Given the description of an element on the screen output the (x, y) to click on. 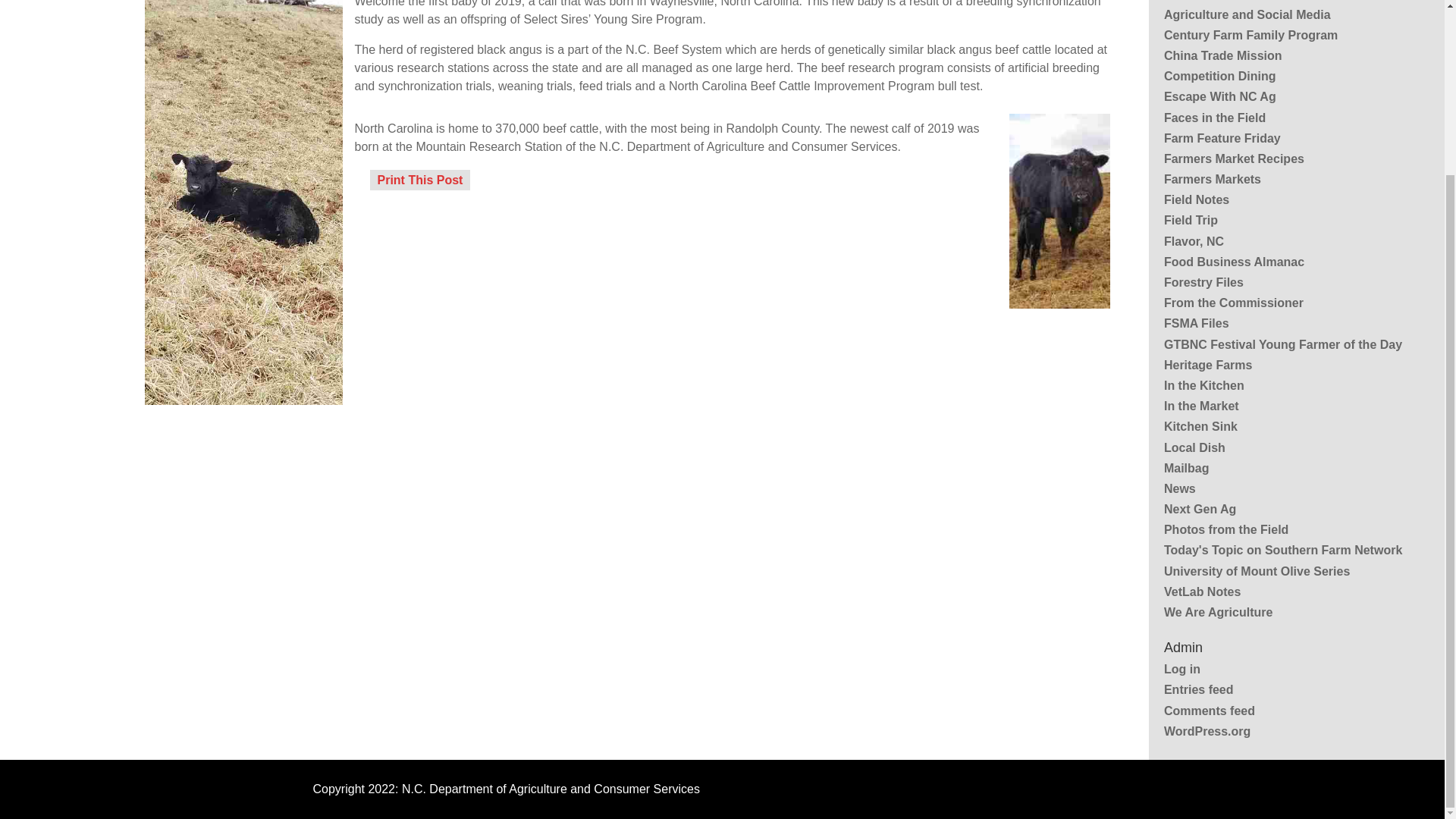
Local Dish (1194, 447)
Farmers Market Recipes (1233, 158)
Forestry Files (1203, 282)
Escape With NC Ag (1219, 96)
Food Business Almanac (1233, 261)
Agriculture and Social Media (1246, 14)
From the Commissioner (1233, 302)
Faces in the Field (1214, 116)
Flavor, NC (1193, 241)
FSMA Files (1195, 323)
In the Market (1201, 405)
GTBNC Festival Young Farmer of the Day (1282, 344)
Print This Post (420, 178)
We Are Agriculture (1217, 612)
Competition Dining (1219, 75)
